Given the description of an element on the screen output the (x, y) to click on. 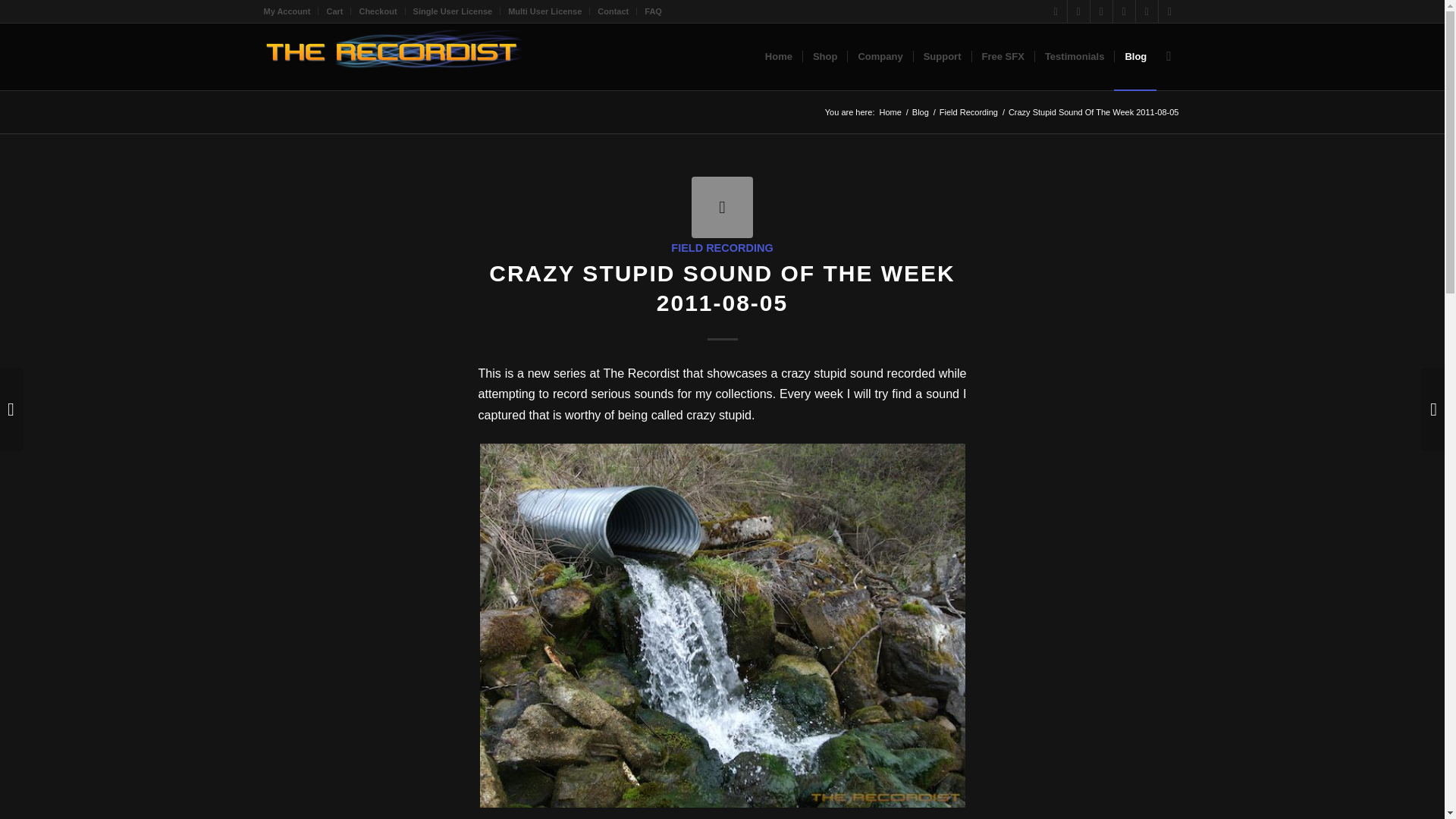
Single User License (453, 11)
Facebook (1078, 11)
The Recordist (889, 112)
Contact (612, 11)
Soundcloud (1124, 11)
My Account (287, 11)
Youtube (1101, 11)
Multi User License (544, 11)
Twitter (1056, 11)
